Given the description of an element on the screen output the (x, y) to click on. 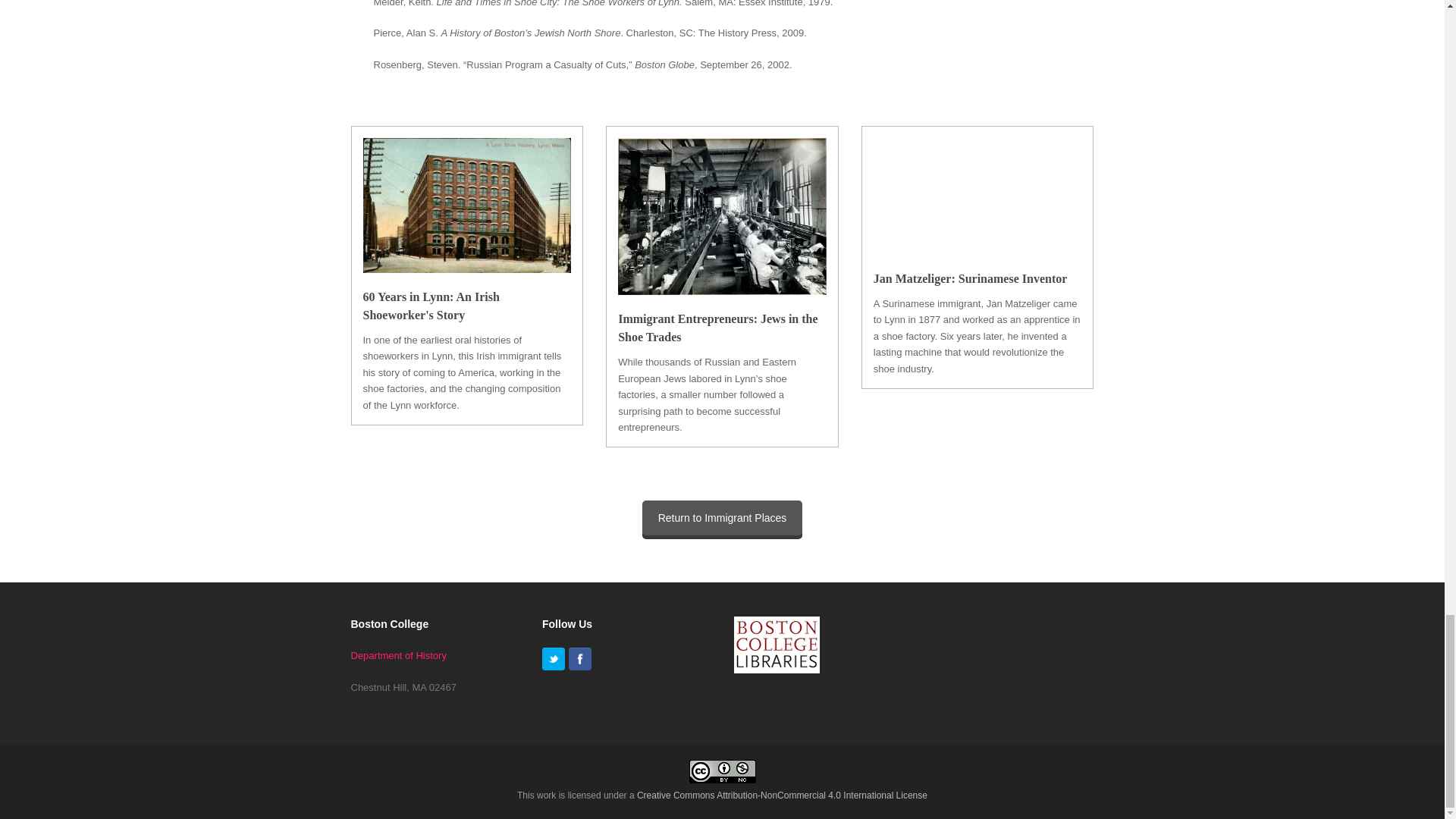
60 Years in Lynn: An Irish Shoeworker's Story (466, 264)
Jews in the Shoe Trade (716, 327)
Immigrant Entrepreneurs: Jews in the Shoe Trades (716, 327)
60 Years in Lynn: An Irish Shoeworker's Story (430, 305)
Twitter (552, 658)
Jan Matzeliger: Surinamese Inventor (970, 278)
Immigrant Places (722, 517)
Shoe Maker Mr Jan Ernst Matzeliger (977, 196)
60 Years in Lynn: An Irish Shoeworker's Story (430, 305)
Facebook (580, 658)
